Given the description of an element on the screen output the (x, y) to click on. 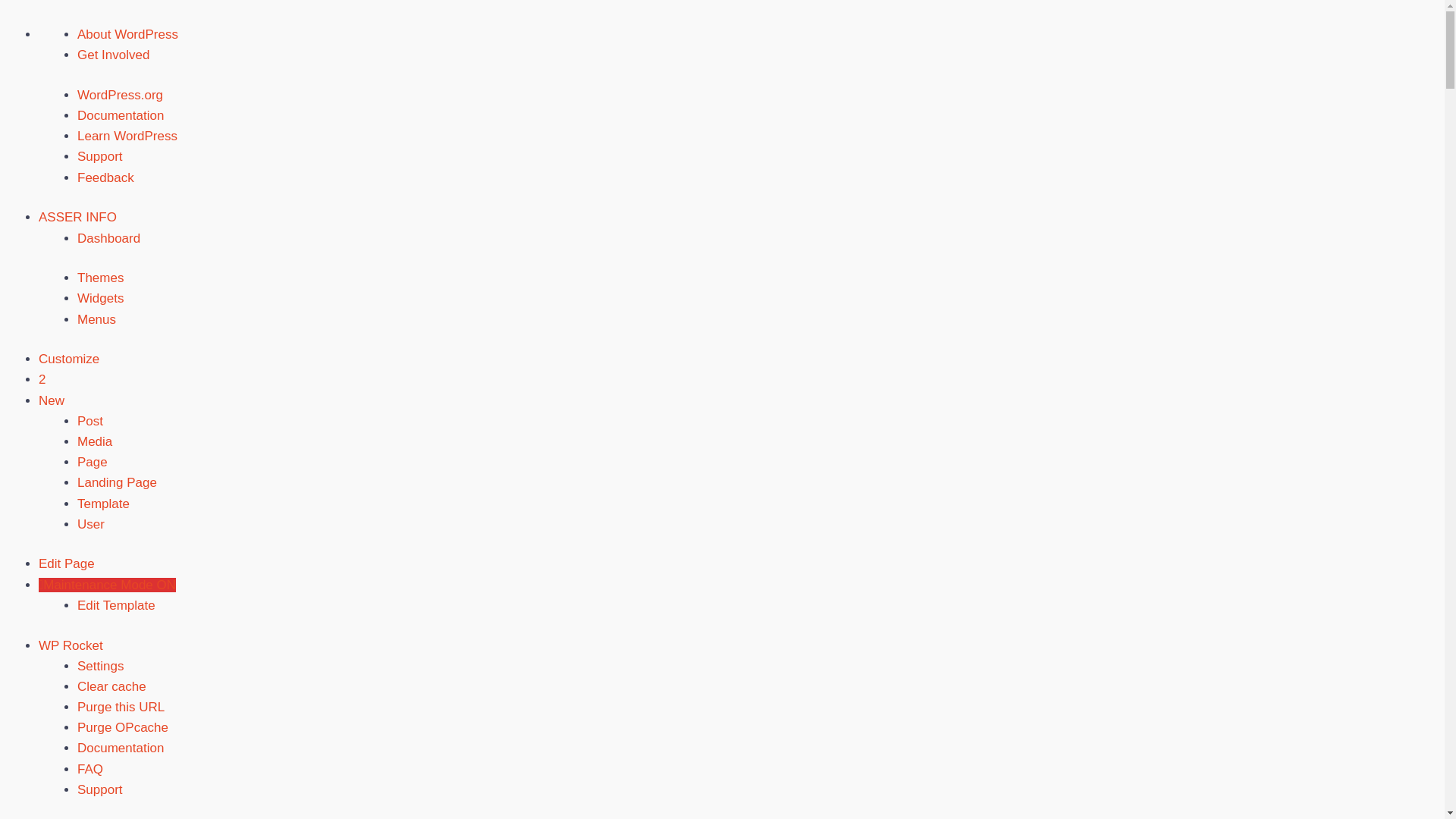
Purge OPcache Element type: text (122, 727)
Page Element type: text (92, 462)
Landing Page Element type: text (116, 482)
Customize Element type: text (68, 358)
Purge this URL Element type: text (120, 706)
2
2 Comments in moderation Element type: text (41, 379)
Support Element type: text (99, 156)
New Element type: text (51, 400)
ASSER INFO Element type: text (77, 217)
About WordPress Element type: text (127, 34)
Edit Page Element type: text (66, 563)
Post Element type: text (90, 421)
Feedback Element type: text (105, 177)
Documentation Element type: text (120, 115)
User Element type: text (90, 524)
Settings Element type: text (100, 665)
FAQ Element type: text (90, 769)
WordPress.org Element type: text (120, 94)
Template Element type: text (103, 503)
Widgets Element type: text (100, 298)
Maintenance Mode ON Element type: text (106, 584)
Dashboard Element type: text (108, 237)
Edit Template Element type: text (116, 605)
Support Element type: text (99, 789)
WP Rocket Element type: text (70, 645)
Clear cache Element type: text (111, 686)
Get Involved Element type: text (113, 54)
Media Element type: text (94, 441)
Documentation Element type: text (120, 747)
Themes Element type: text (100, 277)
Learn WordPress Element type: text (127, 135)
Menus Element type: text (96, 319)
